Given the description of an element on the screen output the (x, y) to click on. 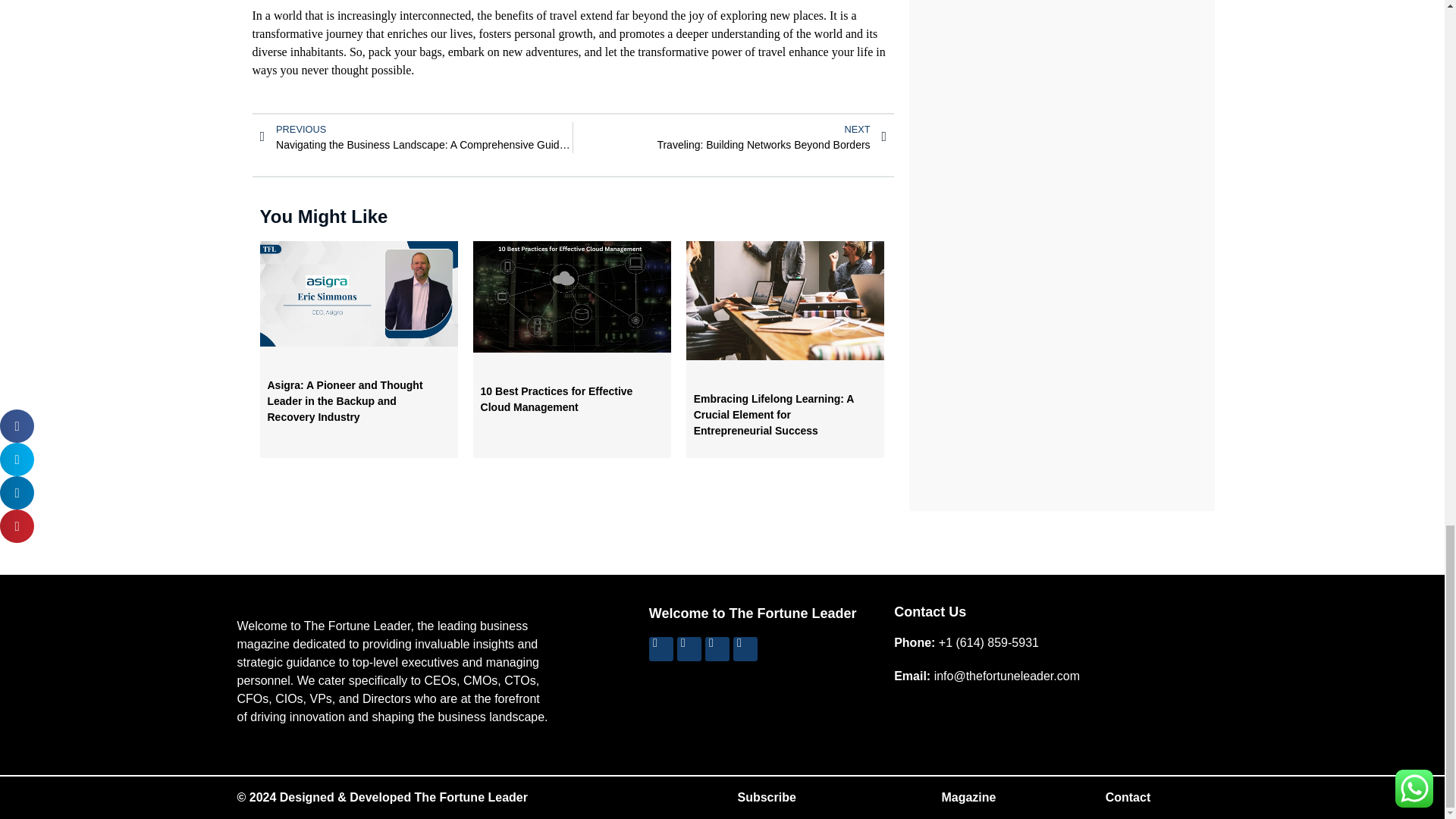
10 Best Practices for Effective Cloud Management (729, 137)
10 Best Practices for Effective Cloud Management (556, 398)
